Given the description of an element on the screen output the (x, y) to click on. 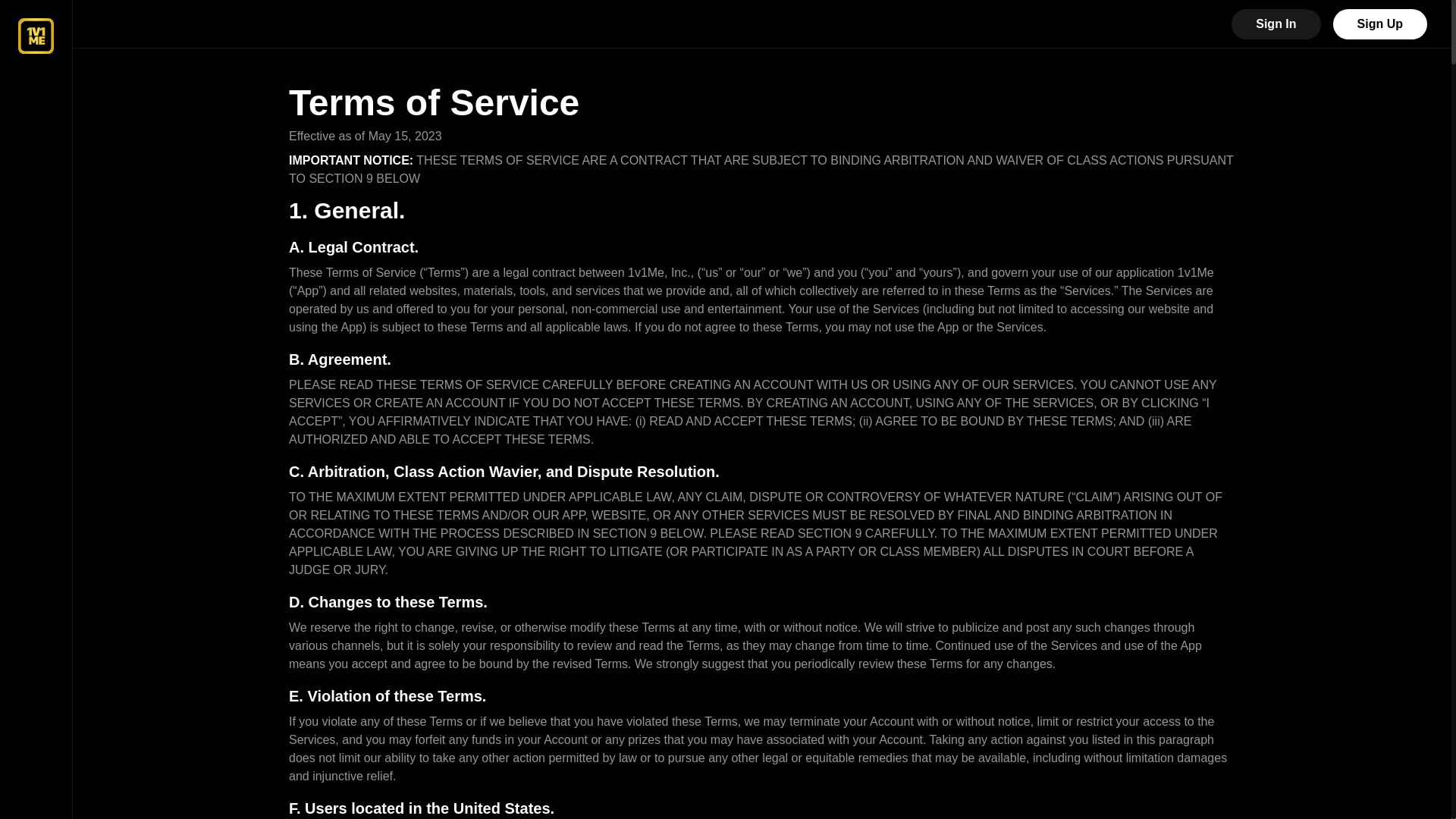
Sign In Element type: text (1275, 24)
Sign Up Element type: text (1380, 24)
